Given the description of an element on the screen output the (x, y) to click on. 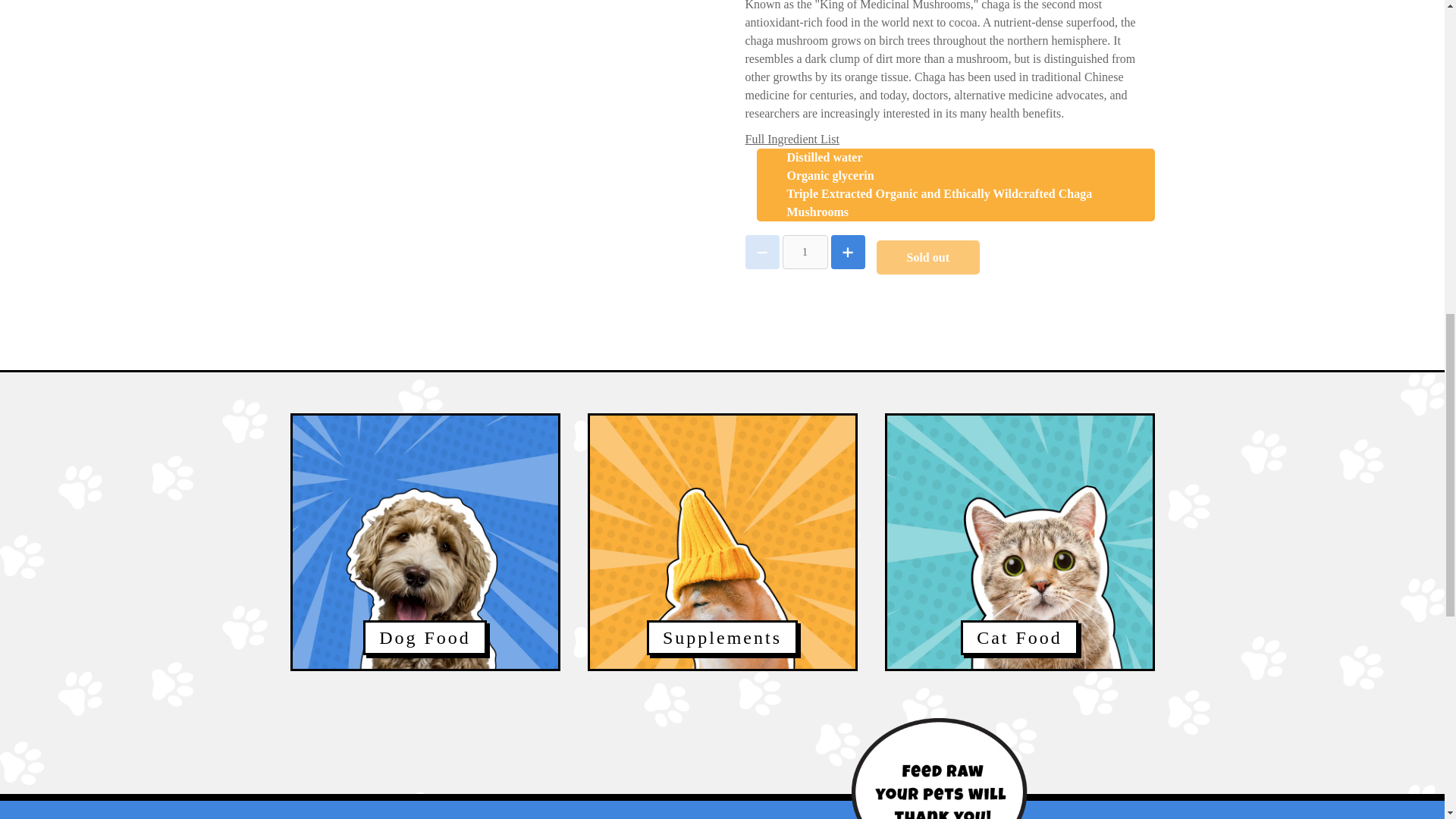
1 (805, 252)
Supplements (721, 559)
Dogs (424, 559)
